Given the description of an element on the screen output the (x, y) to click on. 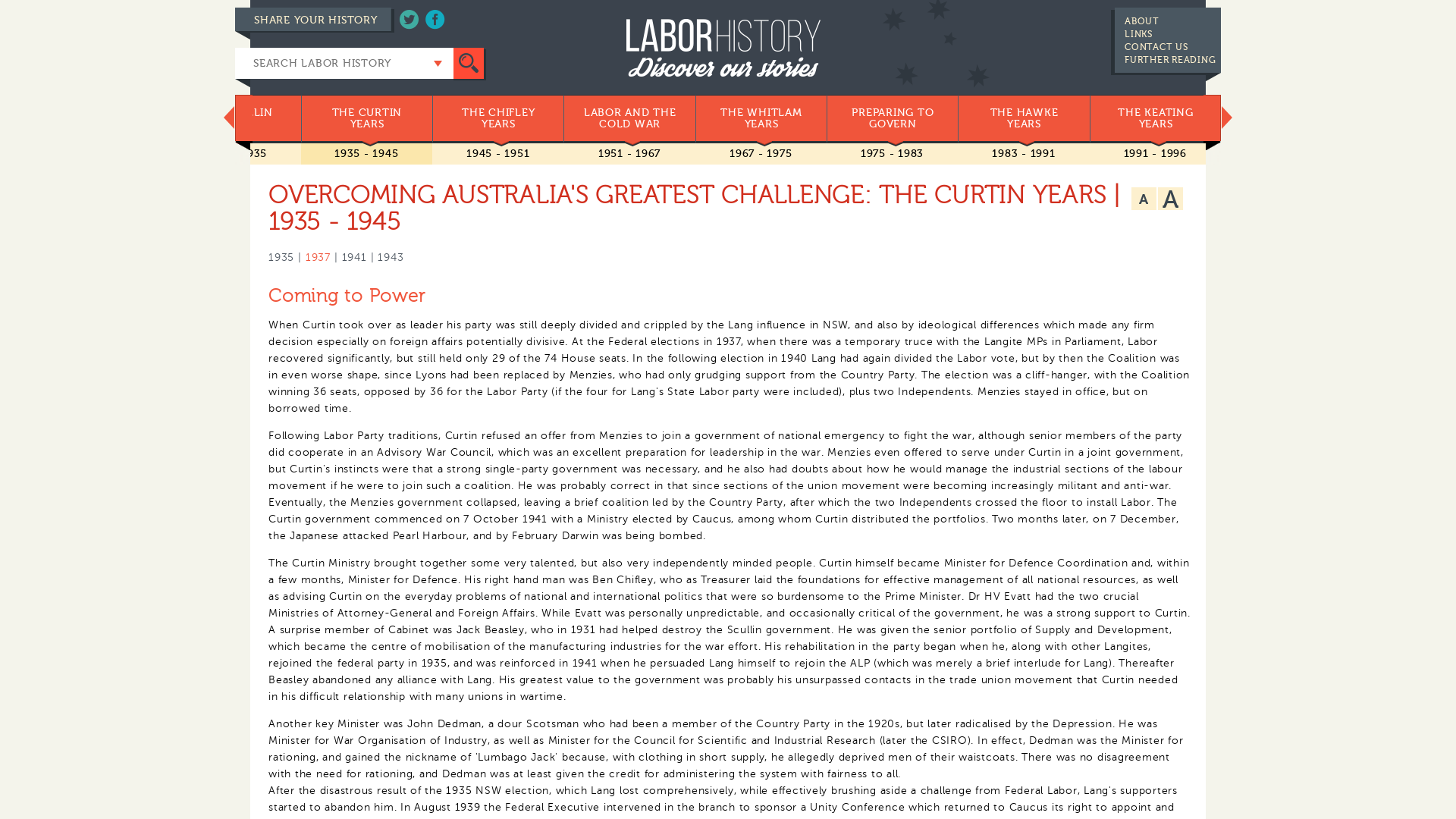
1951 - 1967 Element type: text (629, 153)
1941 Element type: text (353, 257)
1935 - 1945 Element type: text (366, 153)
LINKS Element type: text (1138, 33)
THE HAWKE YEARS Element type: text (1022, 118)
THE CURTIN YEARS Element type: text (366, 118)
1967 - 1975 Element type: text (760, 153)
1943 Element type: text (390, 257)
1975 - 1983 Element type: text (891, 153)
CONTACT US Element type: text (1156, 46)
1929 - 1935 Element type: text (234, 153)
FURTHER READING Element type: text (1169, 59)
1935 Element type: text (281, 257)
ABOUT Element type: text (1141, 20)
PREPARING TO GOVERN Element type: text (891, 118)
THE WHITLAM YEARS Element type: text (760, 118)
SHARE YOUR HISTORY Element type: text (306, 19)
1991 - 1996 Element type: text (1154, 153)
1937 Element type: text (317, 257)
THE KEATING YEARS Element type: text (1154, 118)
1983 - 1991 Element type: text (1022, 153)
1945 - 1951 Element type: text (497, 153)
THE SCULLIN YEARS Element type: text (234, 118)
THE CHIFLEY YEARS Element type: text (497, 118)
LABOR AND THE COLD WAR Element type: text (628, 118)
